Given the description of an element on the screen output the (x, y) to click on. 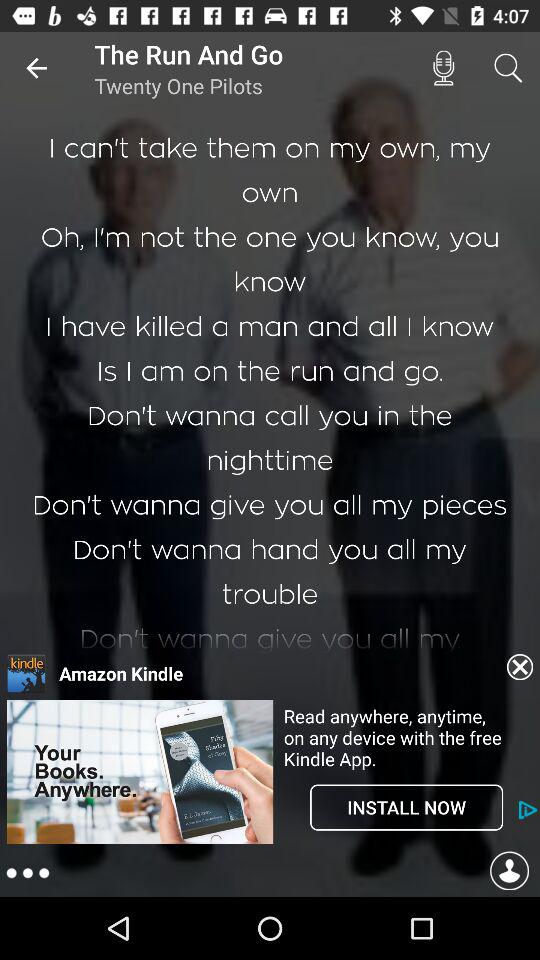
enter settings (27, 873)
